Given the description of an element on the screen output the (x, y) to click on. 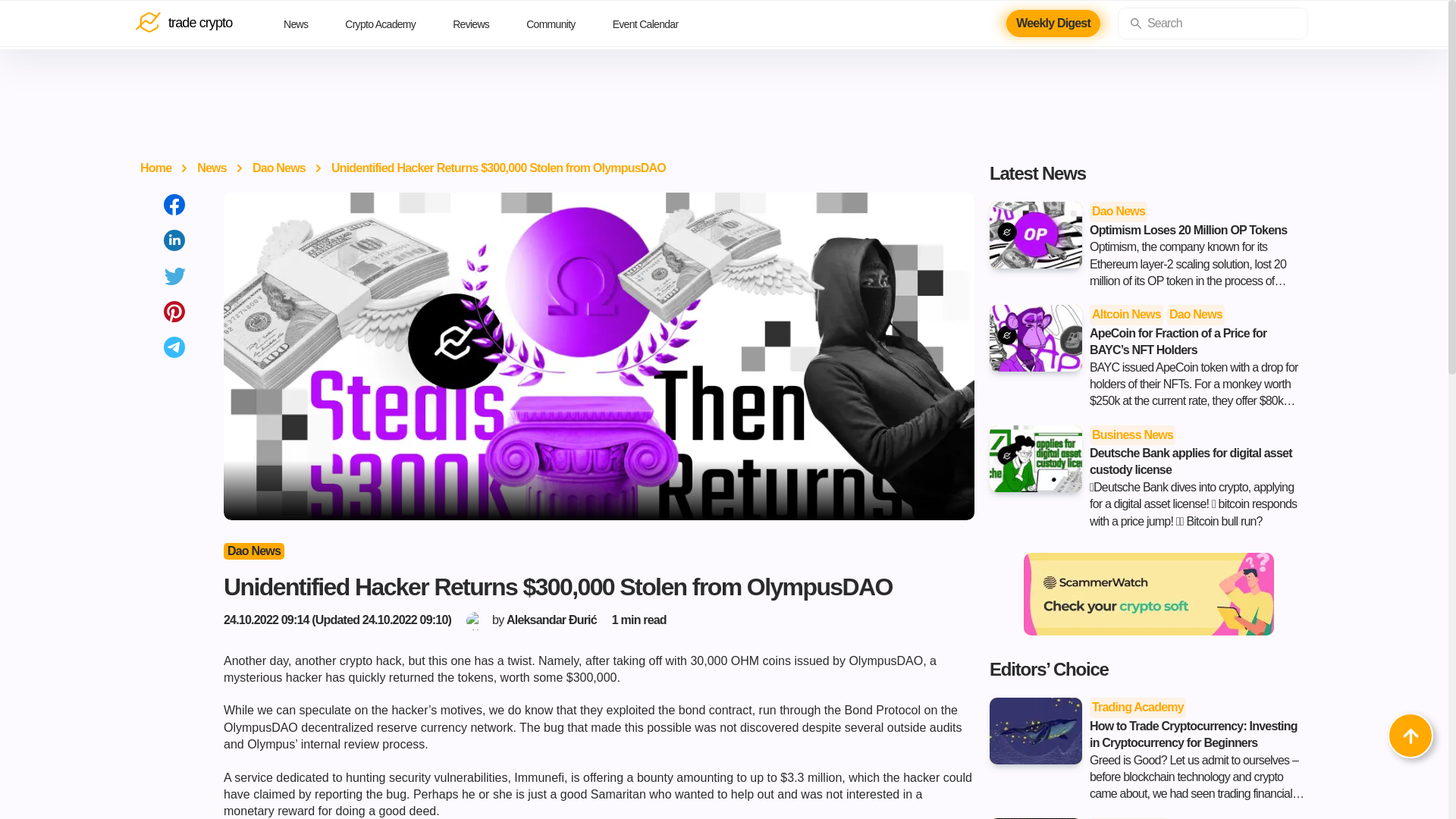
trade crypto (189, 23)
pinterest (173, 311)
Weekly Digest (1053, 22)
Crypto Academy (391, 24)
Event Calendar (656, 24)
News (306, 24)
Telegram (173, 346)
Reviews (482, 24)
Facebook (173, 204)
Community (561, 24)
